Given the description of an element on the screen output the (x, y) to click on. 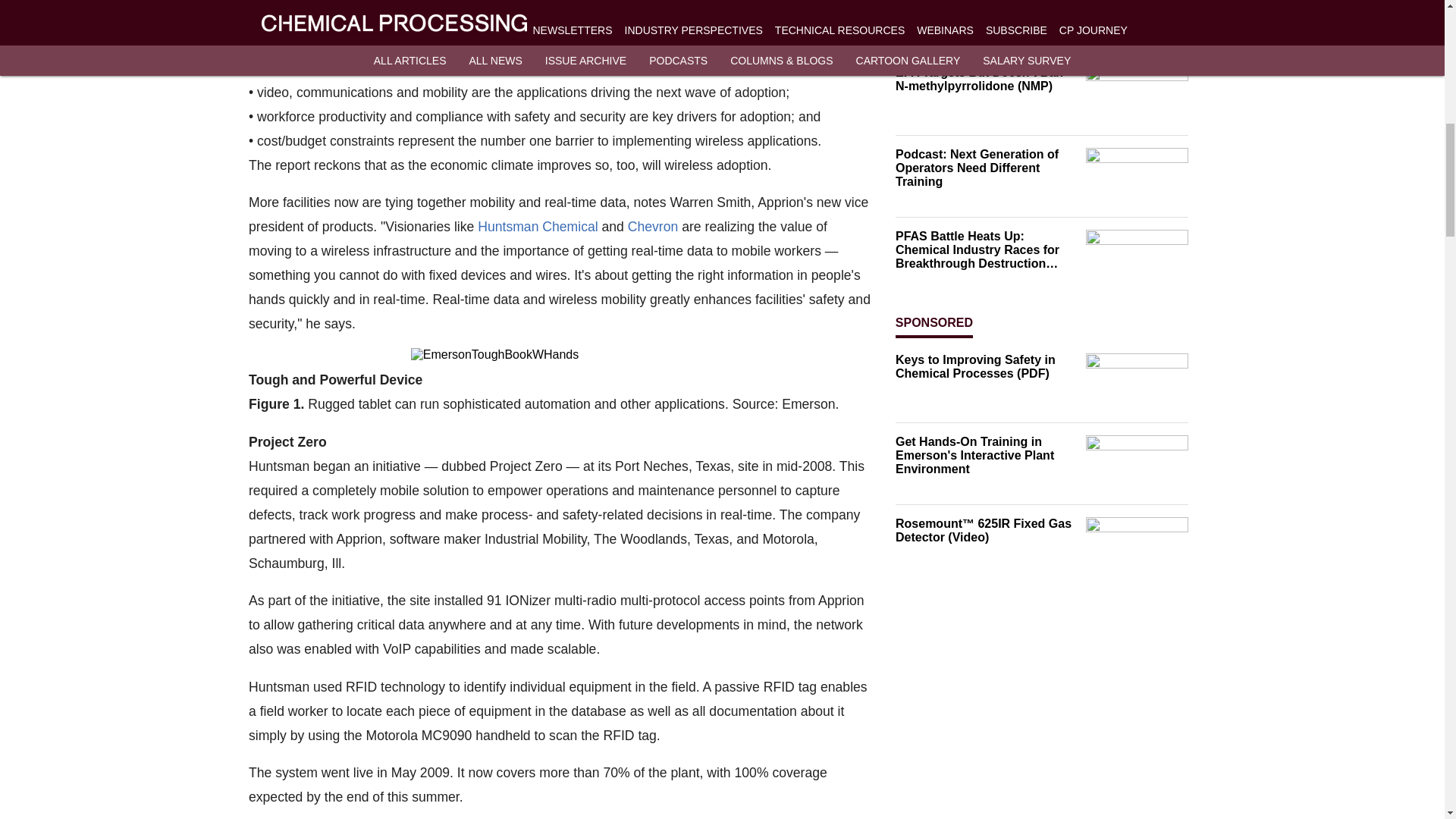
Chevron (652, 227)
Huntsman Chemical (536, 227)
EmersonToughBookWHands (560, 354)
